Given the description of an element on the screen output the (x, y) to click on. 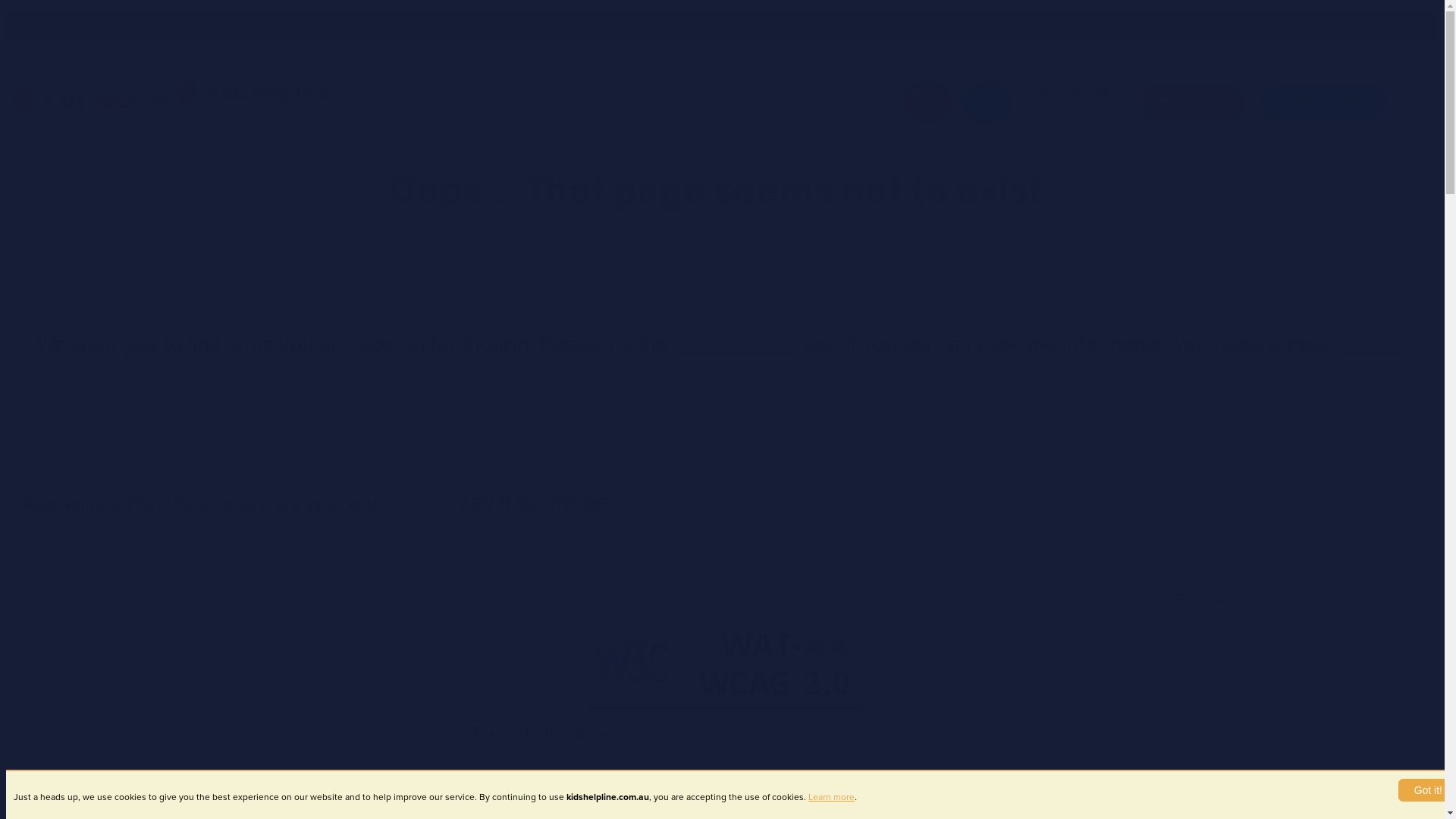
Home Element type: hover (251, 94)
Schools Element type: text (779, 27)
Teens 13-17 Element type: text (534, 27)
Parents Element type: text (720, 27)
onsite search Element type: text (736, 344)
Italian Element type: text (880, 732)
Arabic Element type: text (727, 732)
Chinese Element type: text (665, 732)
Vietnamese Element type: text (804, 732)
Young Adults 18-25 Element type: text (632, 27)
Toggle navigation Element type: text (1062, 88)
Home Element type: hover (87, 101)
Learn more Element type: text (831, 796)
Feedback Element type: text (260, 542)
1800 55 1800 Element type: text (986, 102)
1800 55 1800 Element type: text (1323, 101)
Feedback Element type: text (1008, 27)
yourtown. Element type: text (418, 503)
Contact Us Element type: text (104, 542)
About Element type: text (835, 27)
Privacy Element type: text (184, 542)
About Element type: text (28, 542)
Get Help! Element type: text (1193, 101)
Greek Element type: text (949, 732)
Kids 5-12 Element type: text (463, 27)
Get Help! Element type: text (927, 102)
Privacy Element type: text (945, 27)
Donate Element type: text (889, 27)
contact us Element type: text (720, 358)
